Given the description of an element on the screen output the (x, y) to click on. 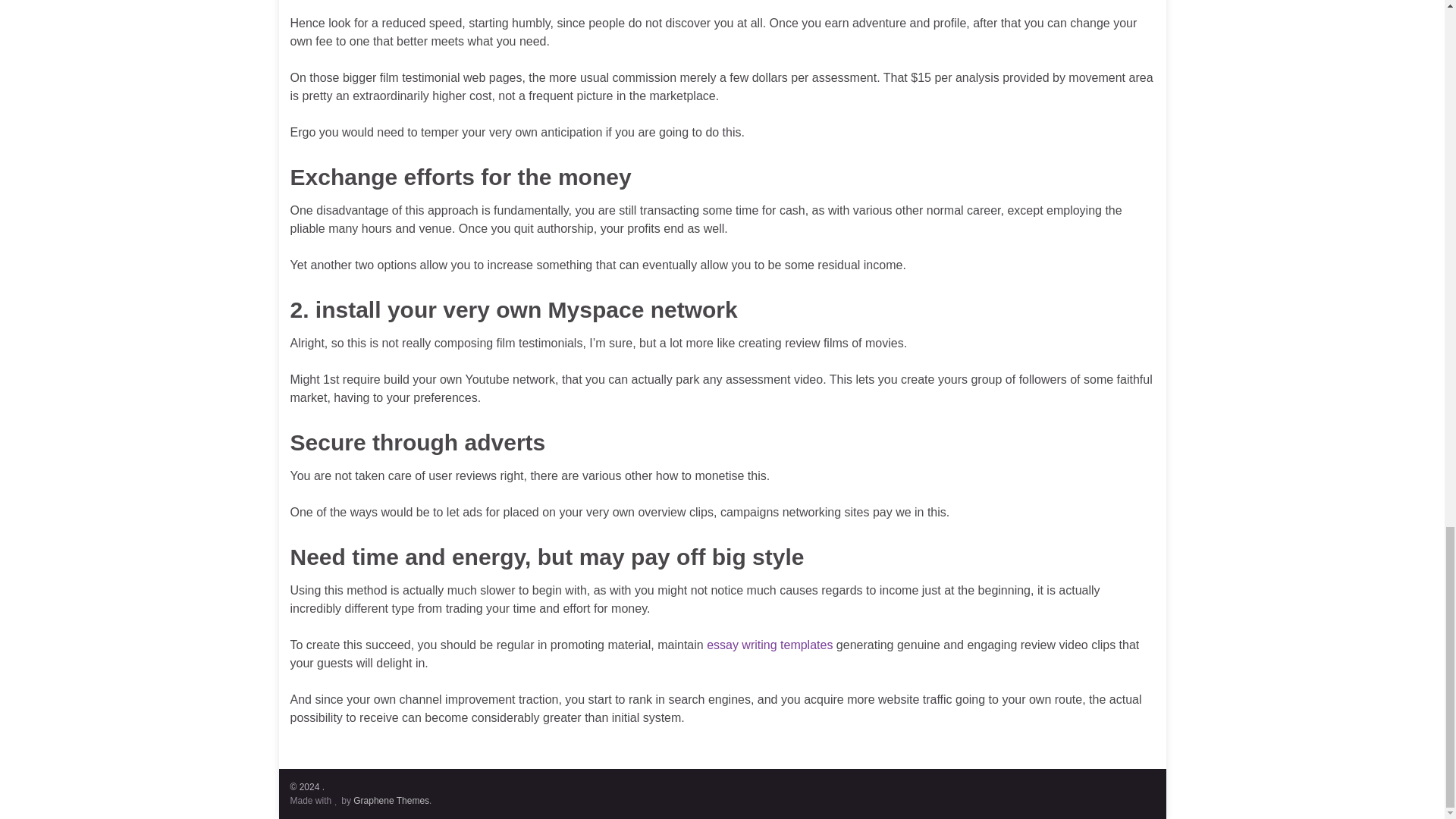
Graphene Themes (391, 800)
essay writing templates (769, 644)
